Given the description of an element on the screen output the (x, y) to click on. 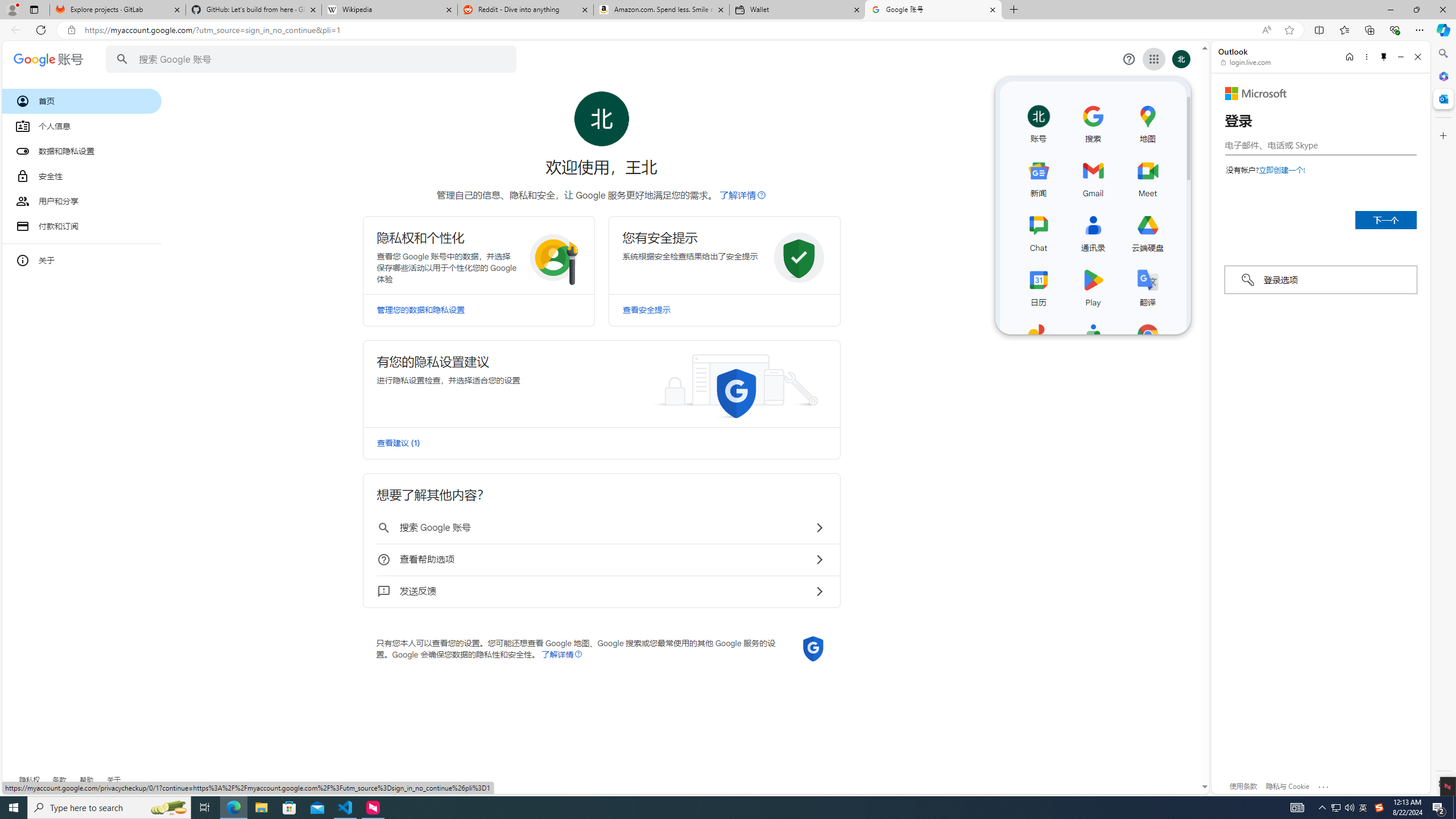
Amazon.com. Spend less. Smile more. (660, 9)
login.live.com (1246, 61)
